Given the description of an element on the screen output the (x, y) to click on. 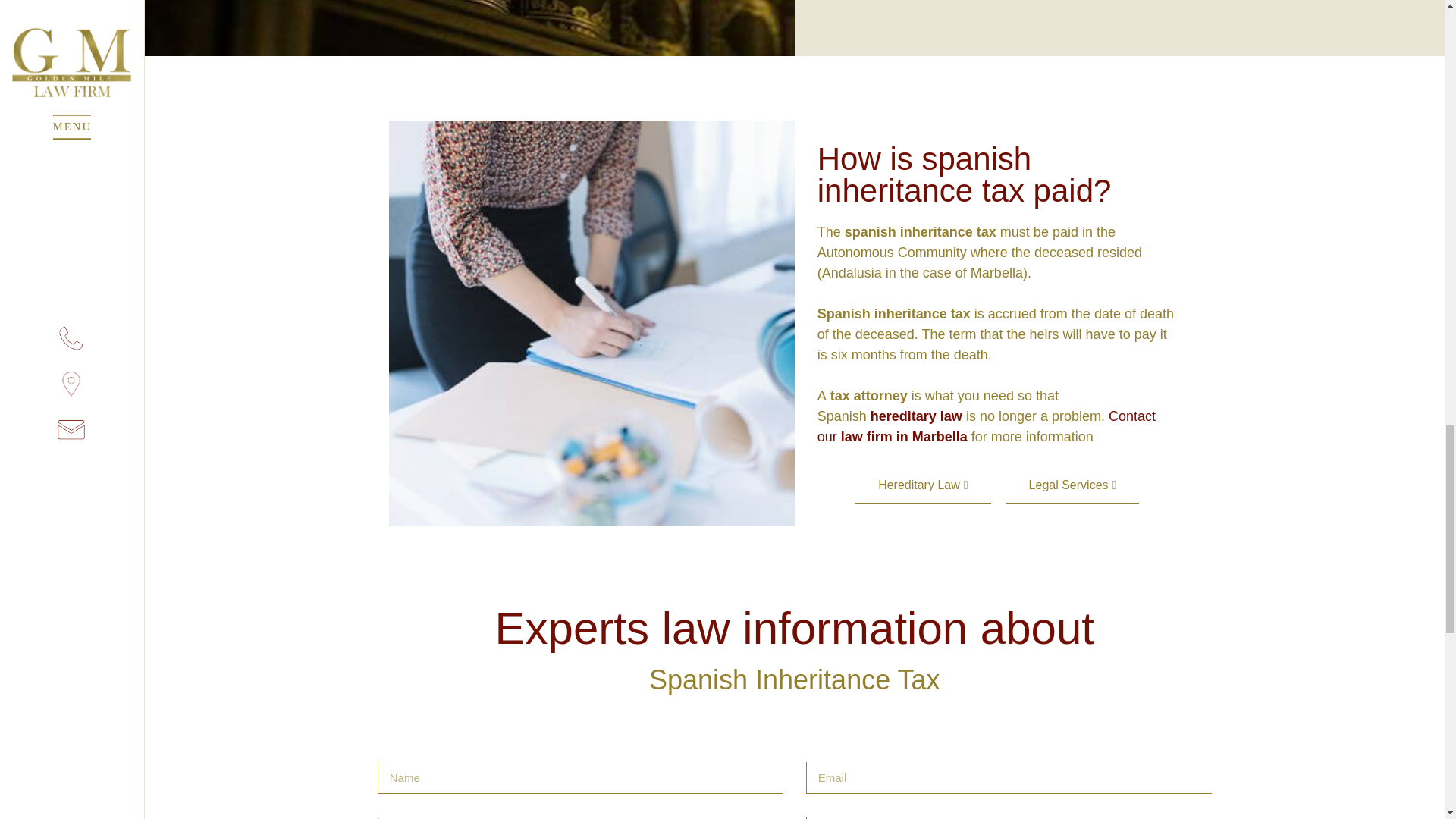
Legal Services (1073, 485)
Hereditary Law (923, 485)
hereditary law (916, 416)
Contact our law firm in Marbella (986, 426)
